Given the description of an element on the screen output the (x, y) to click on. 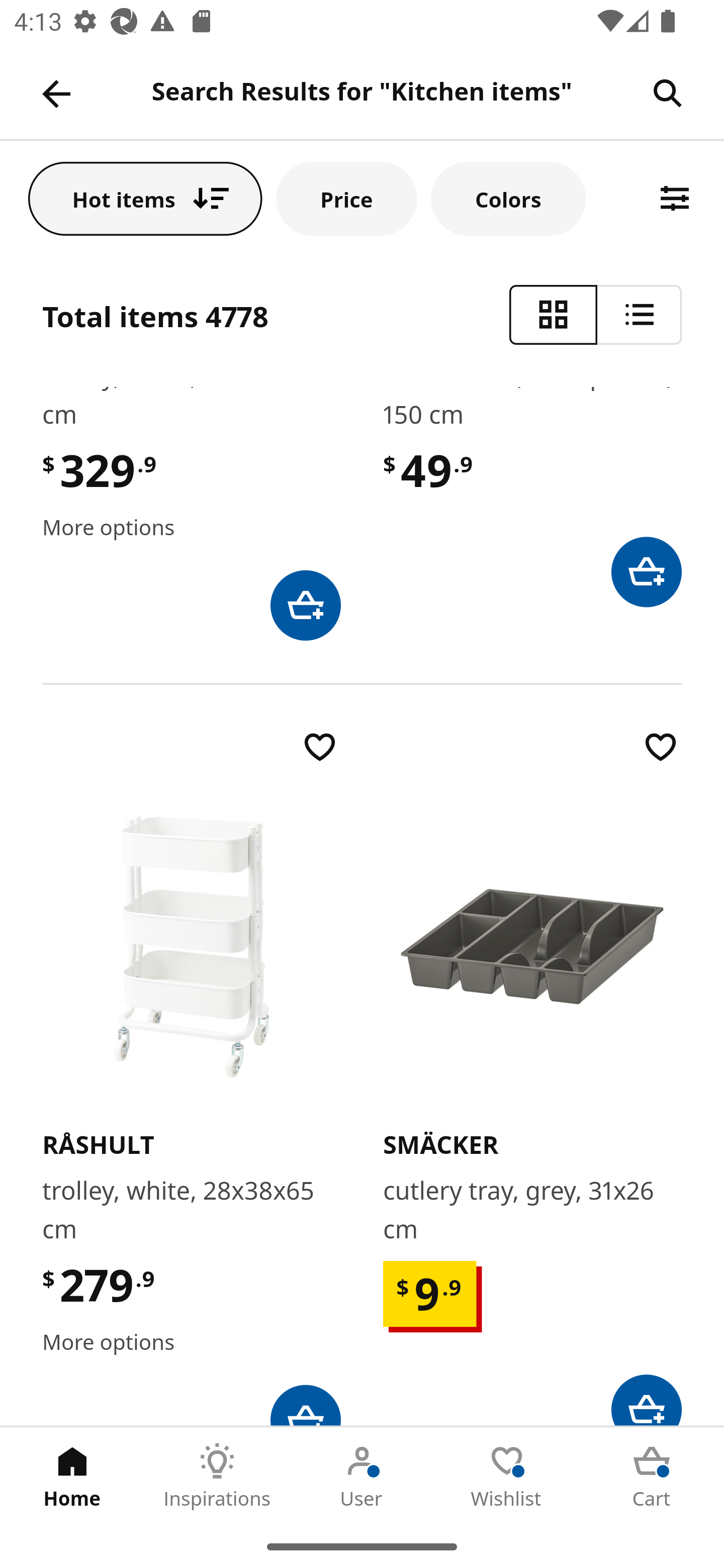
Hot items (145, 198)
Price (346, 198)
Colors (508, 198)
Home
Tab 1 of 5 (72, 1476)
Inspirations
Tab 2 of 5 (216, 1476)
User
Tab 3 of 5 (361, 1476)
Wishlist
Tab 4 of 5 (506, 1476)
Cart
Tab 5 of 5 (651, 1476)
